Given the description of an element on the screen output the (x, y) to click on. 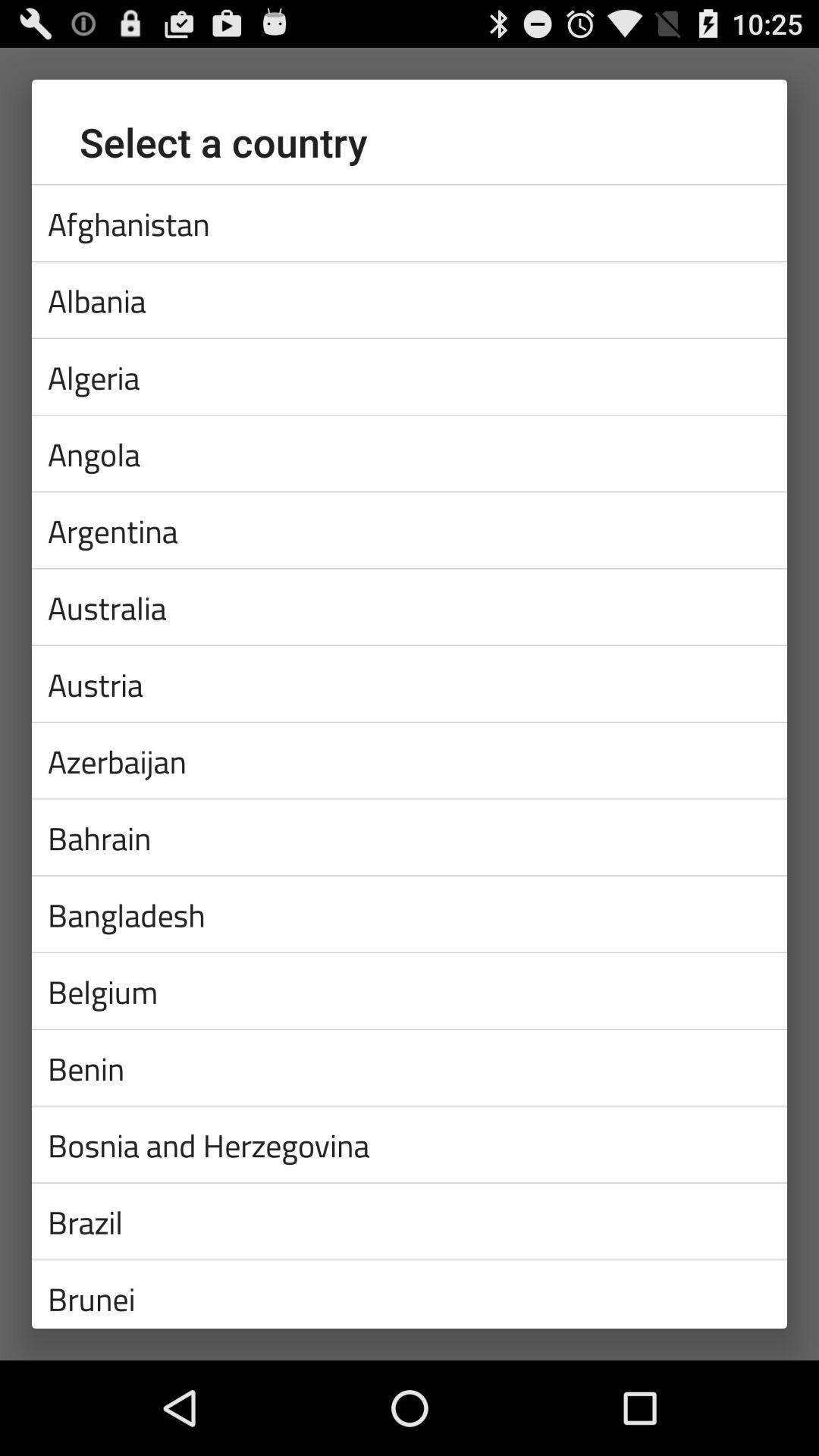
turn on azerbaijan app (409, 760)
